Given the description of an element on the screen output the (x, y) to click on. 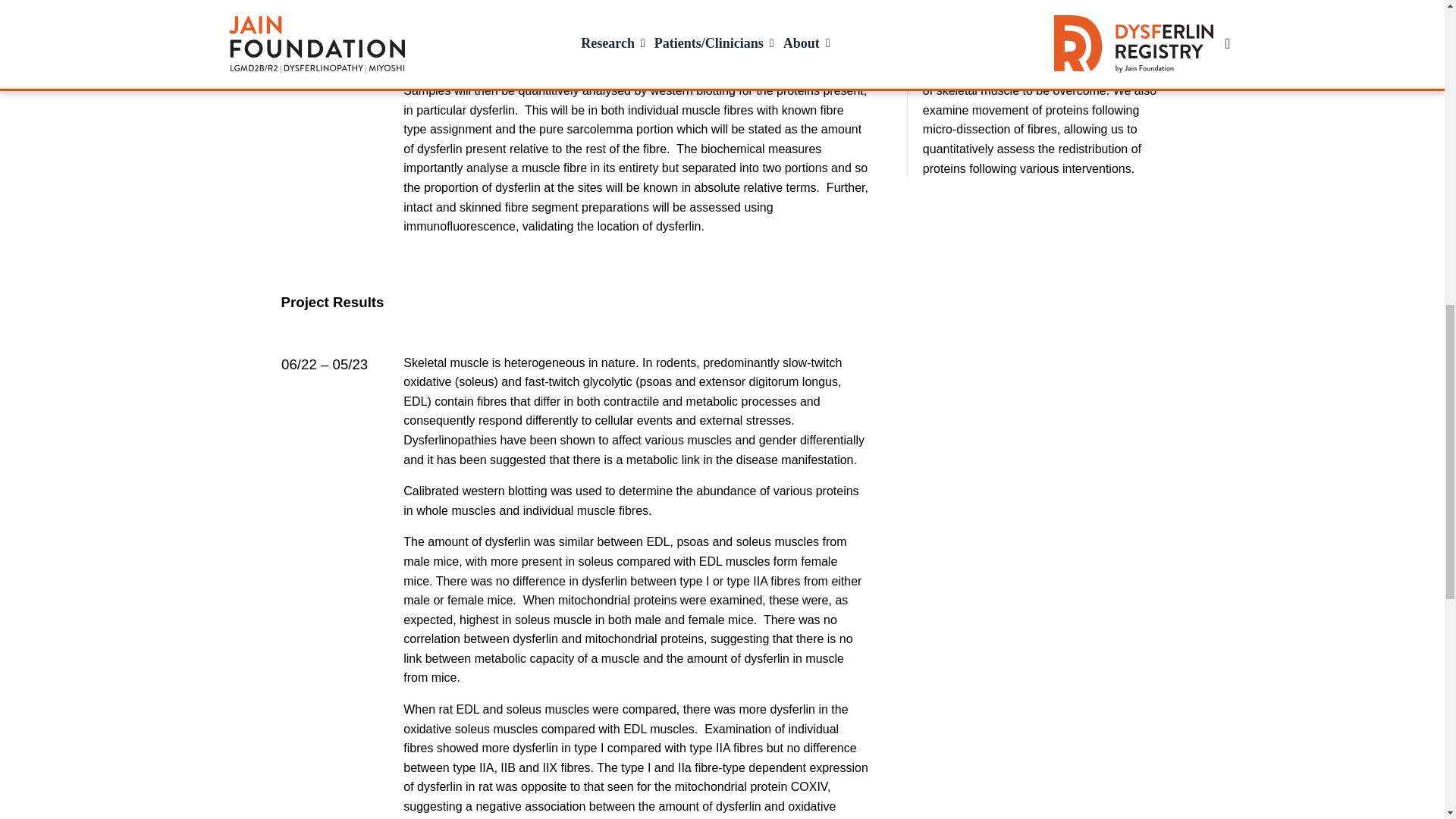
Project Results (575, 302)
